Given the description of an element on the screen output the (x, y) to click on. 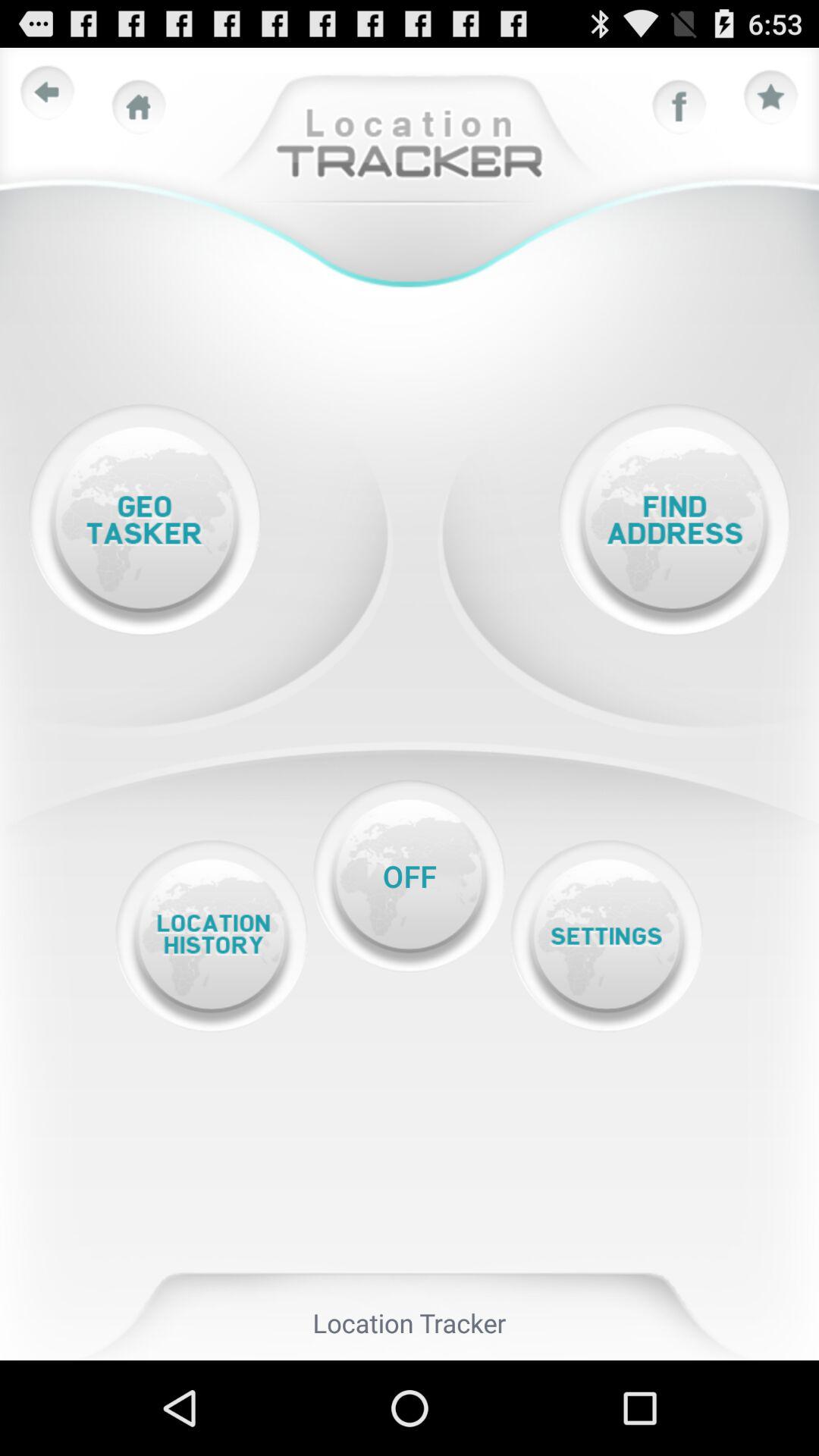
go to geo tasker (144, 520)
